Given the description of an element on the screen output the (x, y) to click on. 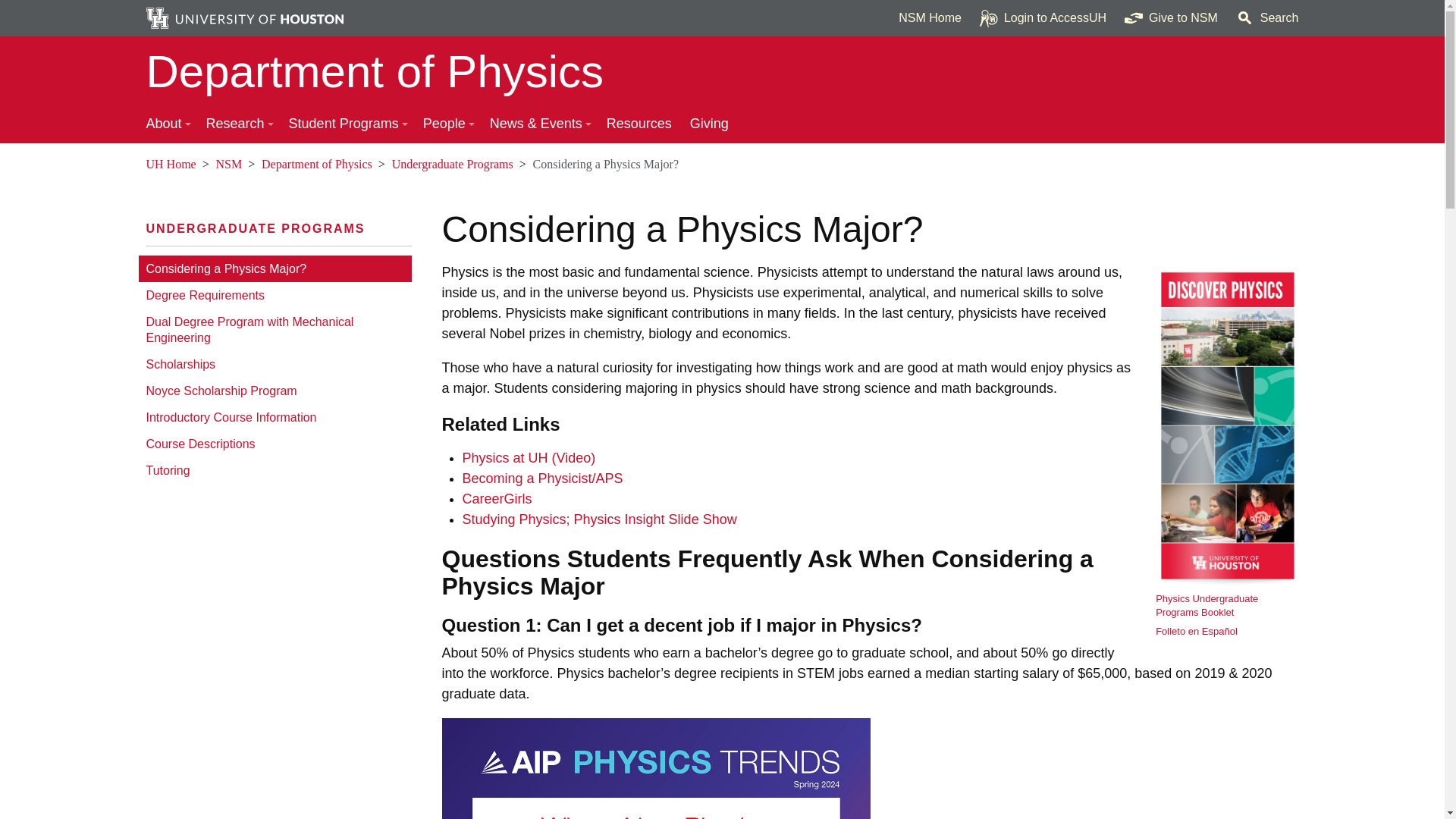
University of Houston (538, 458)
Research (237, 123)
People (446, 123)
Search (1267, 18)
Scholarships (274, 364)
Undergraduate Programs (255, 228)
Department of Physics (721, 71)
About (166, 123)
Tutoring (274, 470)
Noyce Scholarship Program (274, 390)
